Given the description of an element on the screen output the (x, y) to click on. 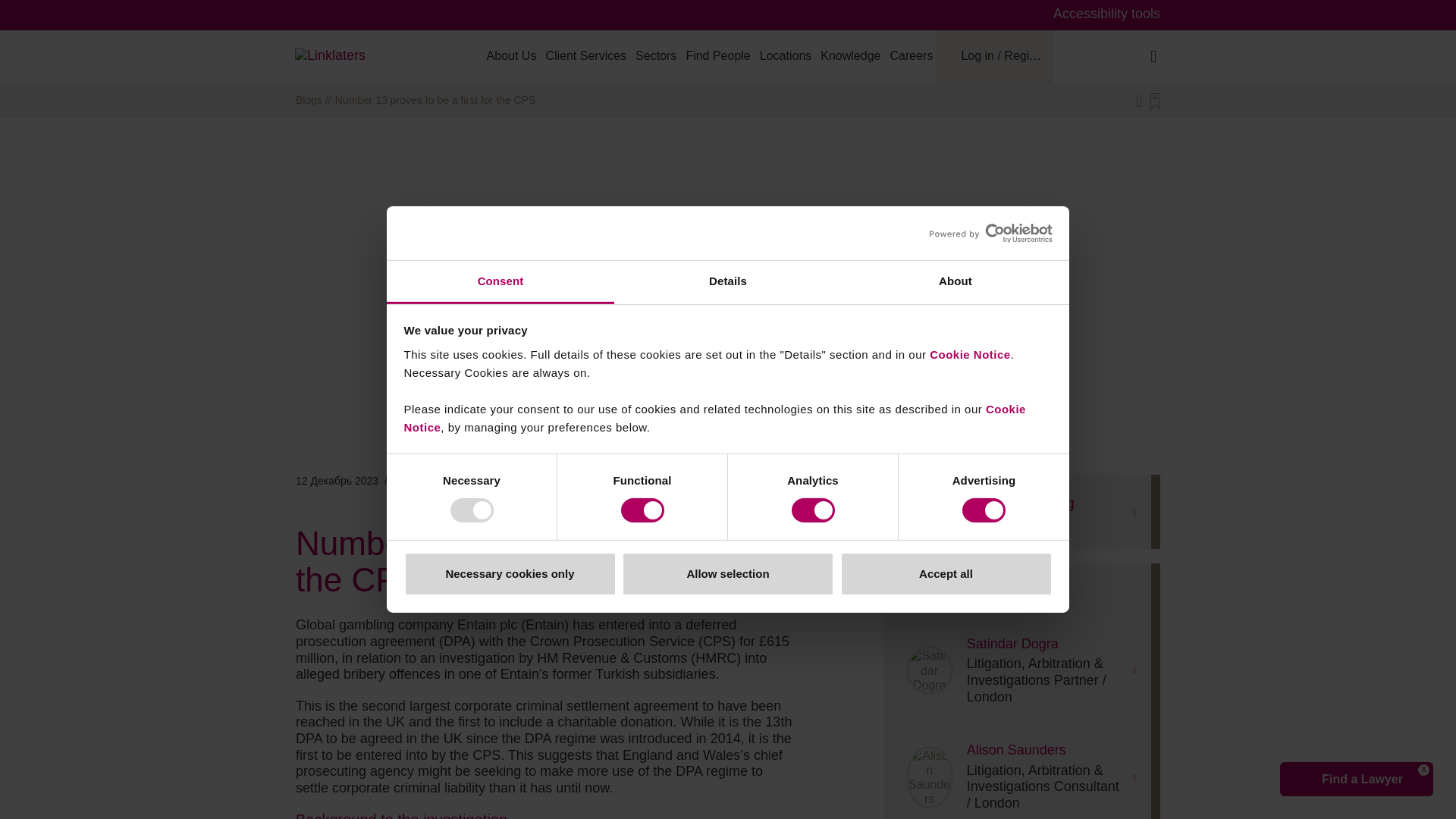
Cookie Notice (970, 354)
Cookie Notice (714, 418)
Details (727, 282)
Consent (500, 282)
About (954, 282)
